Given the description of an element on the screen output the (x, y) to click on. 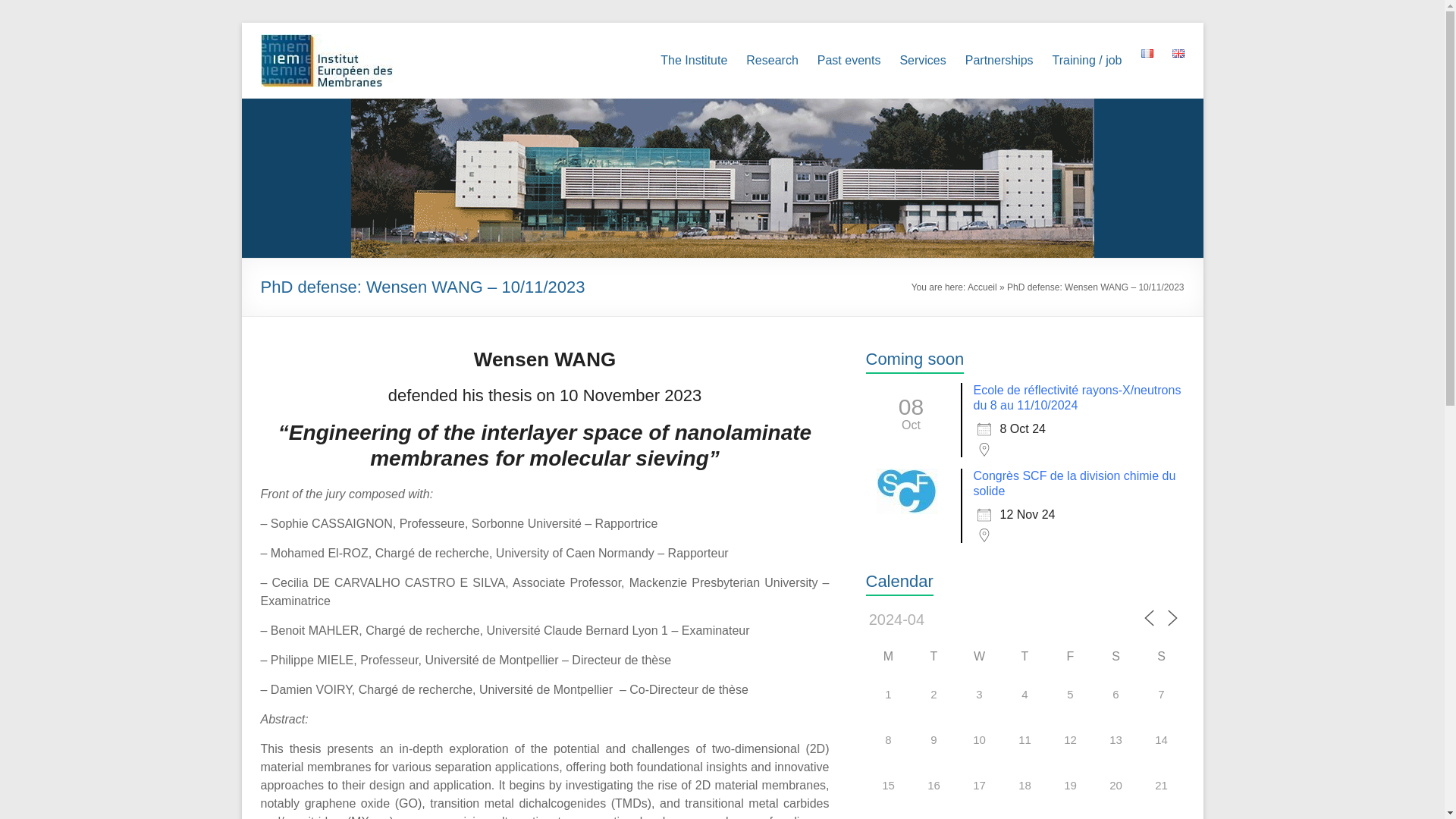
2024-04 (921, 619)
European Institute for Membranes (331, 97)
The Institute (693, 60)
European Institute for Membranes (331, 97)
Partnerships (999, 60)
Accueil (982, 286)
Past events (848, 60)
Services (921, 60)
Research (771, 60)
